Given the description of an element on the screen output the (x, y) to click on. 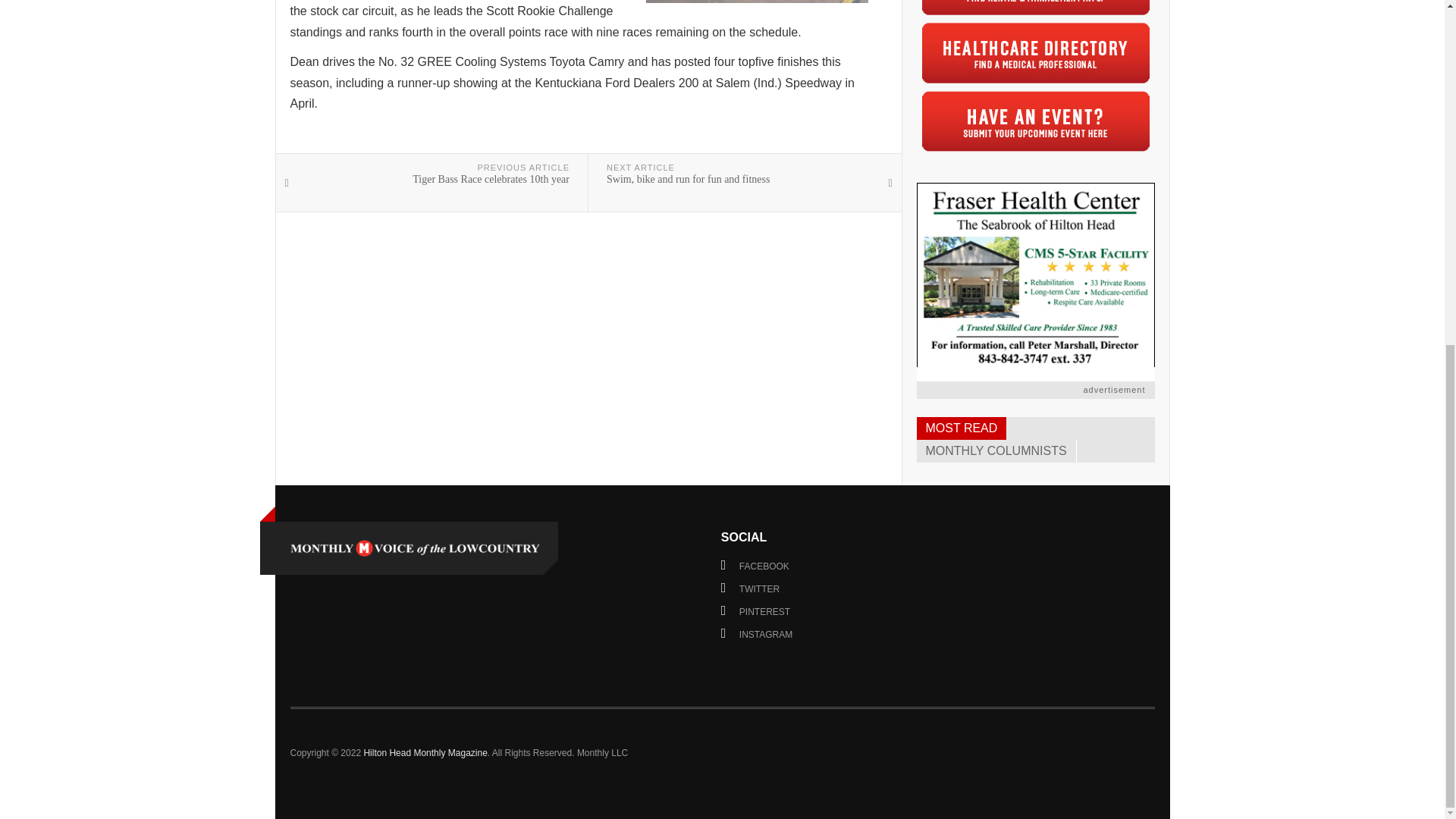
Hilton Head Medical Guide (1035, 52)
Hilton Head Monthly Magazine (413, 547)
Hilton Head Monthly Magazine (424, 751)
Hilton Head Events (1035, 120)
Hilton Head Property Management (1035, 9)
Fraser Health (1034, 281)
